Given the description of an element on the screen output the (x, y) to click on. 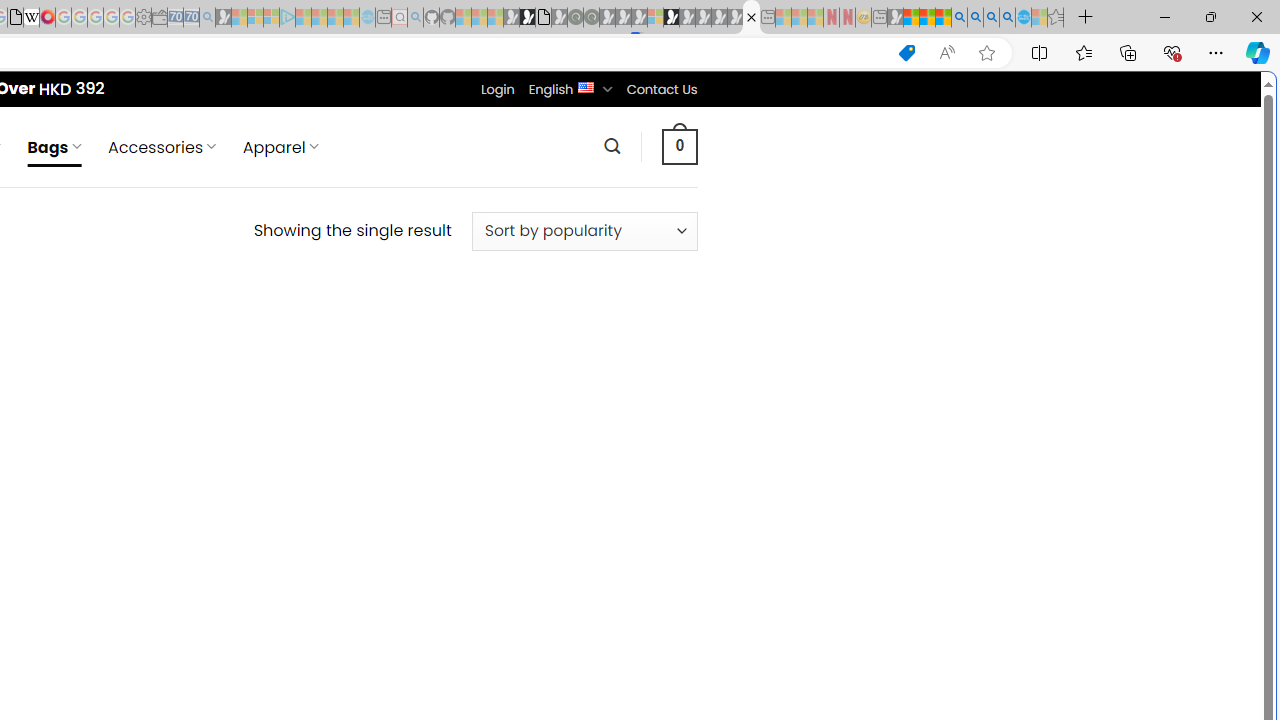
This site has coupons! Shopping in Microsoft Edge (906, 53)
MSN - Sleeping (895, 17)
Contact Us (661, 89)
Bing AI - Search (959, 17)
Tabs you've opened (276, 265)
 0  (679, 146)
Login (497, 89)
